Given the description of an element on the screen output the (x, y) to click on. 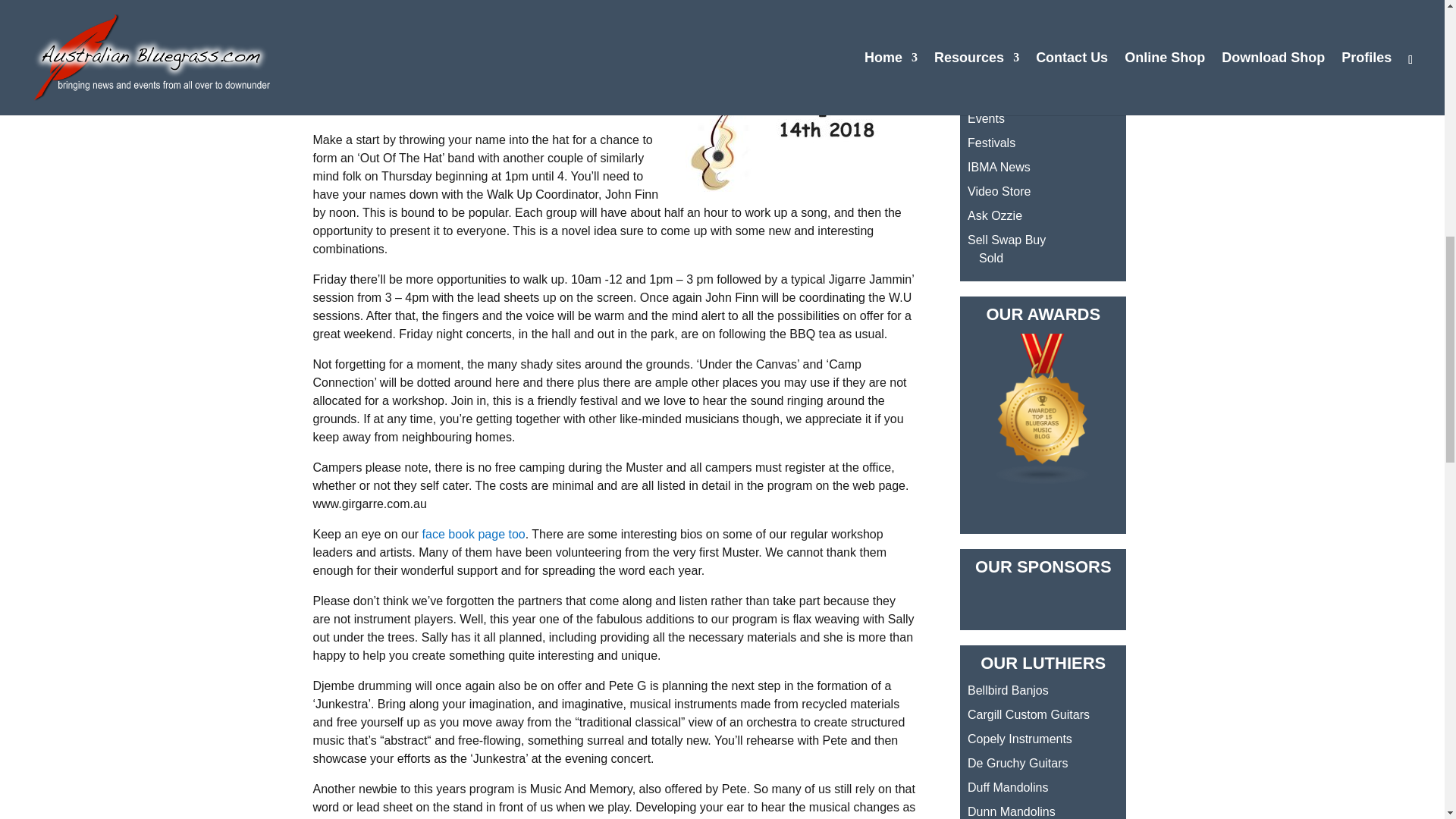
Bluegrass Music blogs (1043, 480)
Marker of fine resonator and acoustic instruments (1019, 738)
face book page too (473, 533)
Australian made banjos (1008, 689)
